Given the description of an element on the screen output the (x, y) to click on. 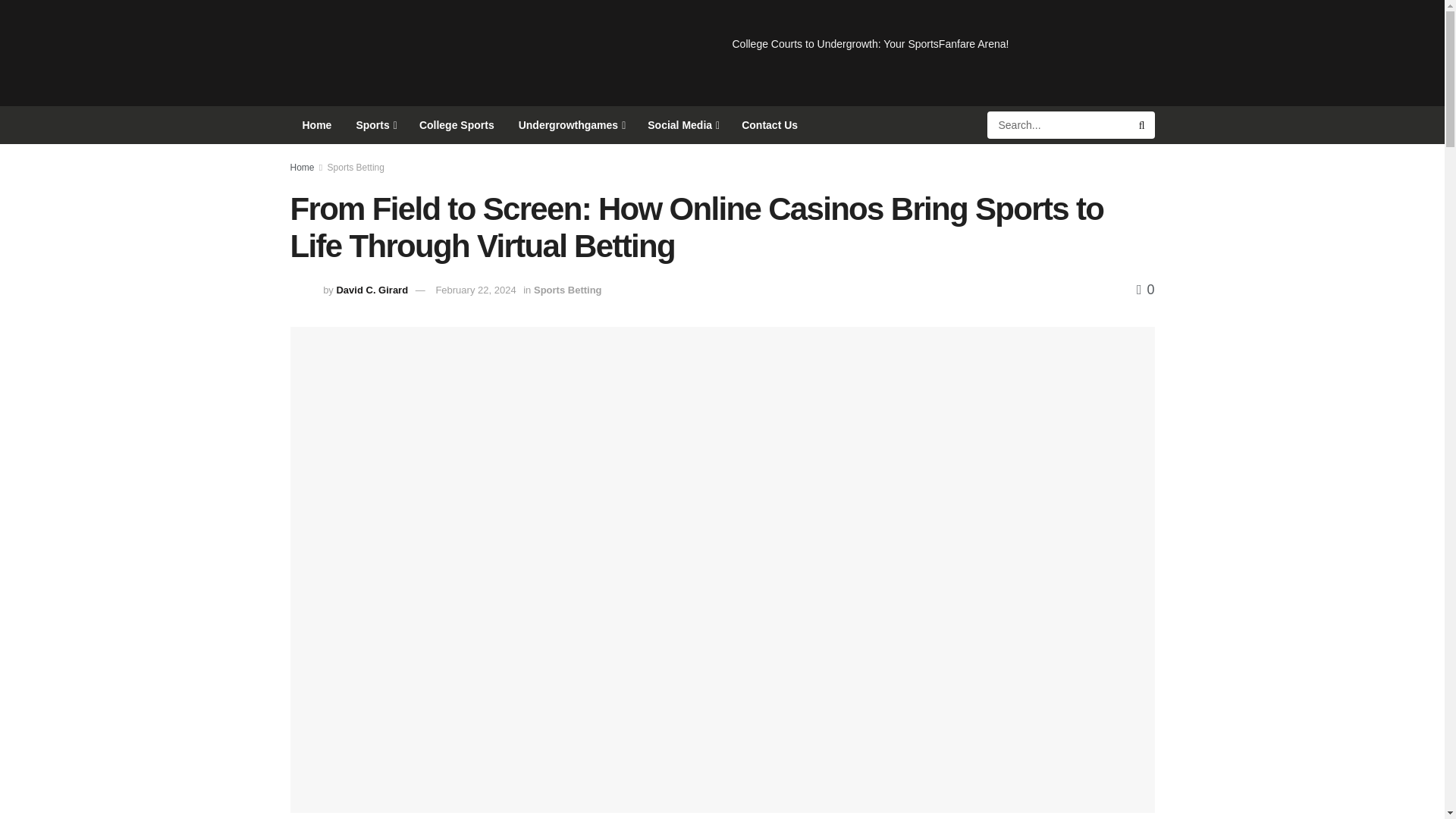
Social Media (681, 125)
College Sports (456, 125)
Contact Us (769, 125)
Undergrowthgames (571, 125)
Home (316, 125)
Sports (374, 125)
